Given the description of an element on the screen output the (x, y) to click on. 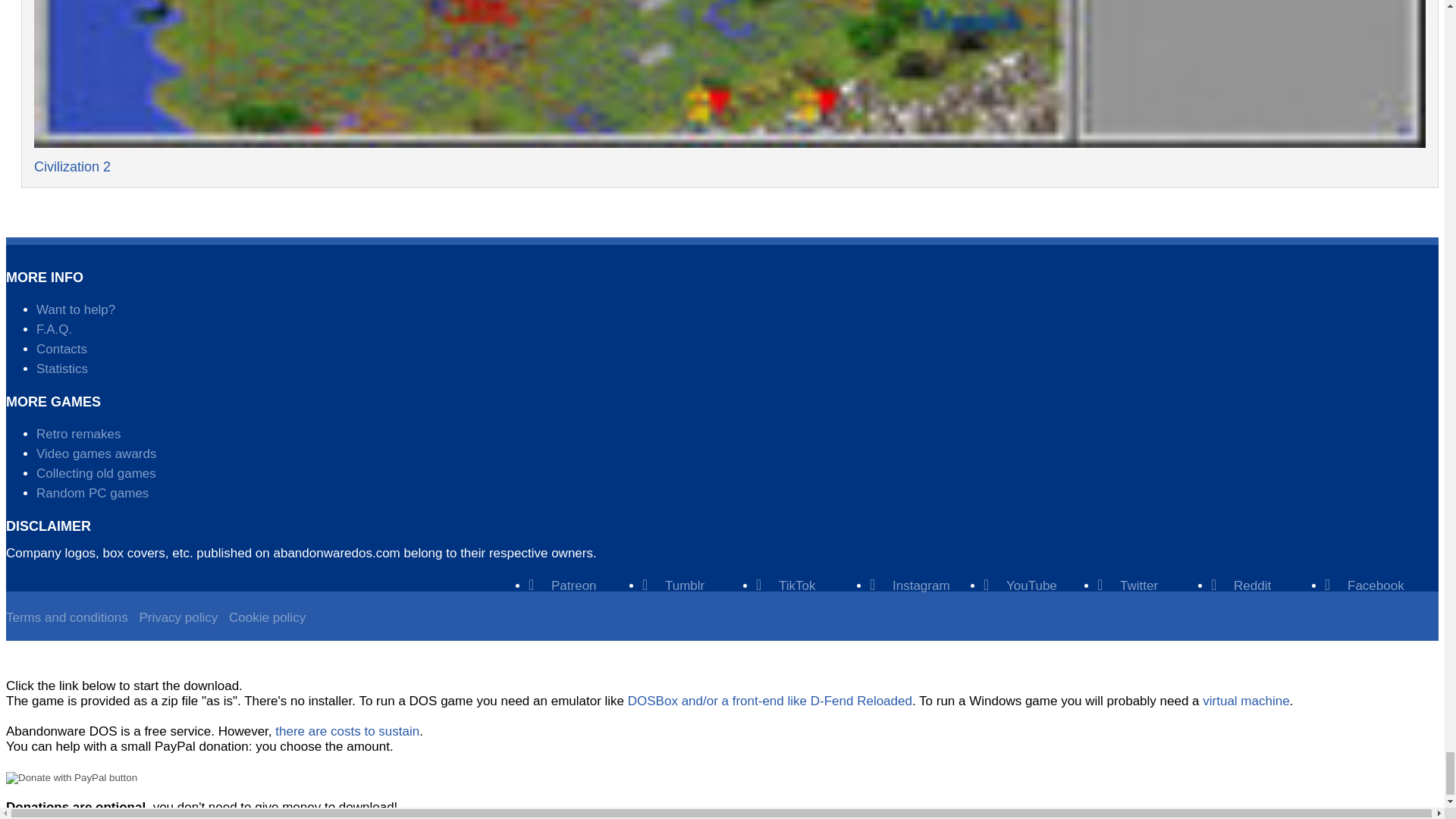
PayPal - The safer, easier way to pay online! (70, 777)
